Given the description of an element on the screen output the (x, y) to click on. 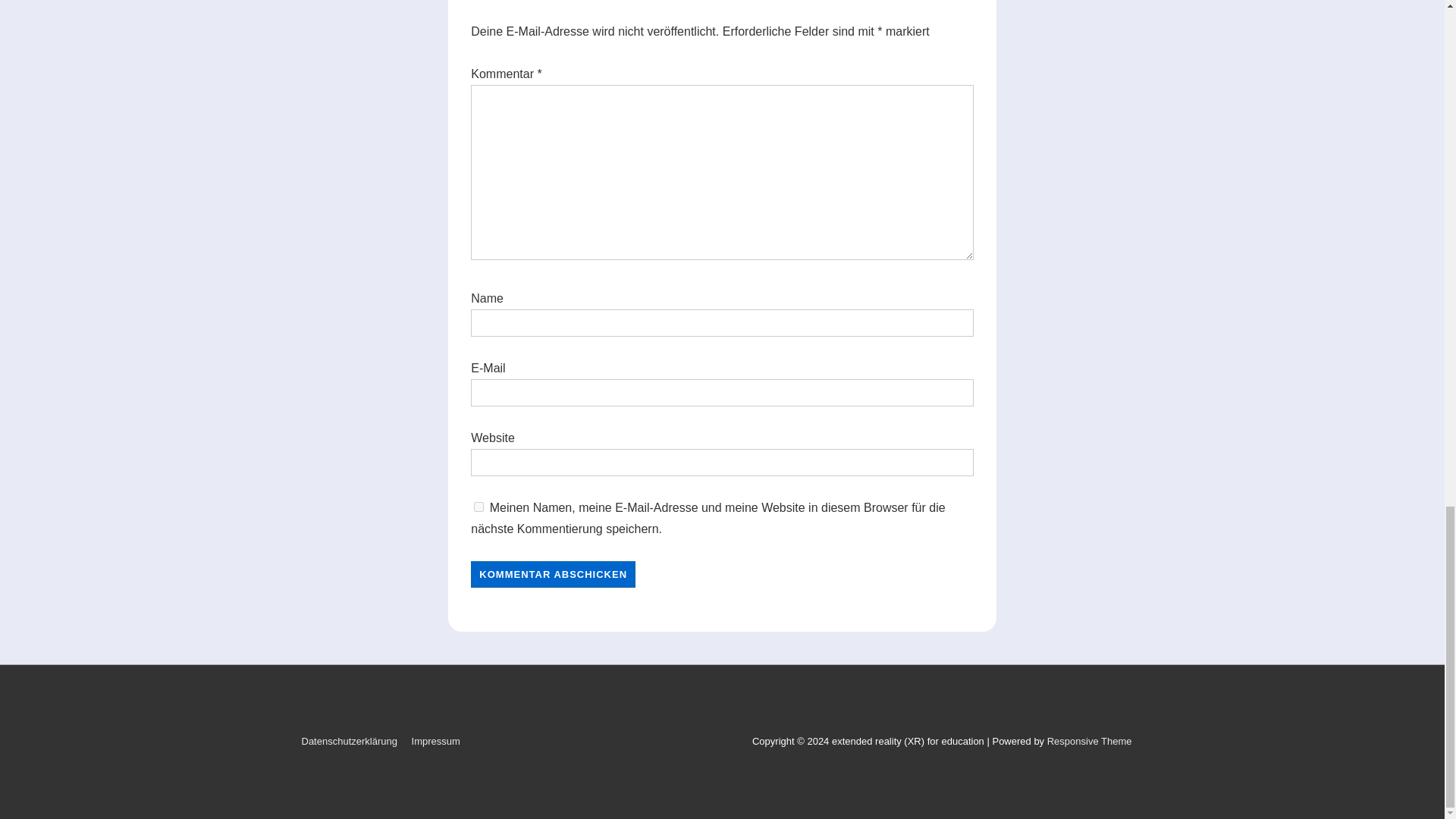
Responsive Theme (1089, 740)
yes (478, 506)
Kommentar abschicken (552, 574)
Impressum (436, 740)
Kommentar abschicken (552, 574)
